Given the description of an element on the screen output the (x, y) to click on. 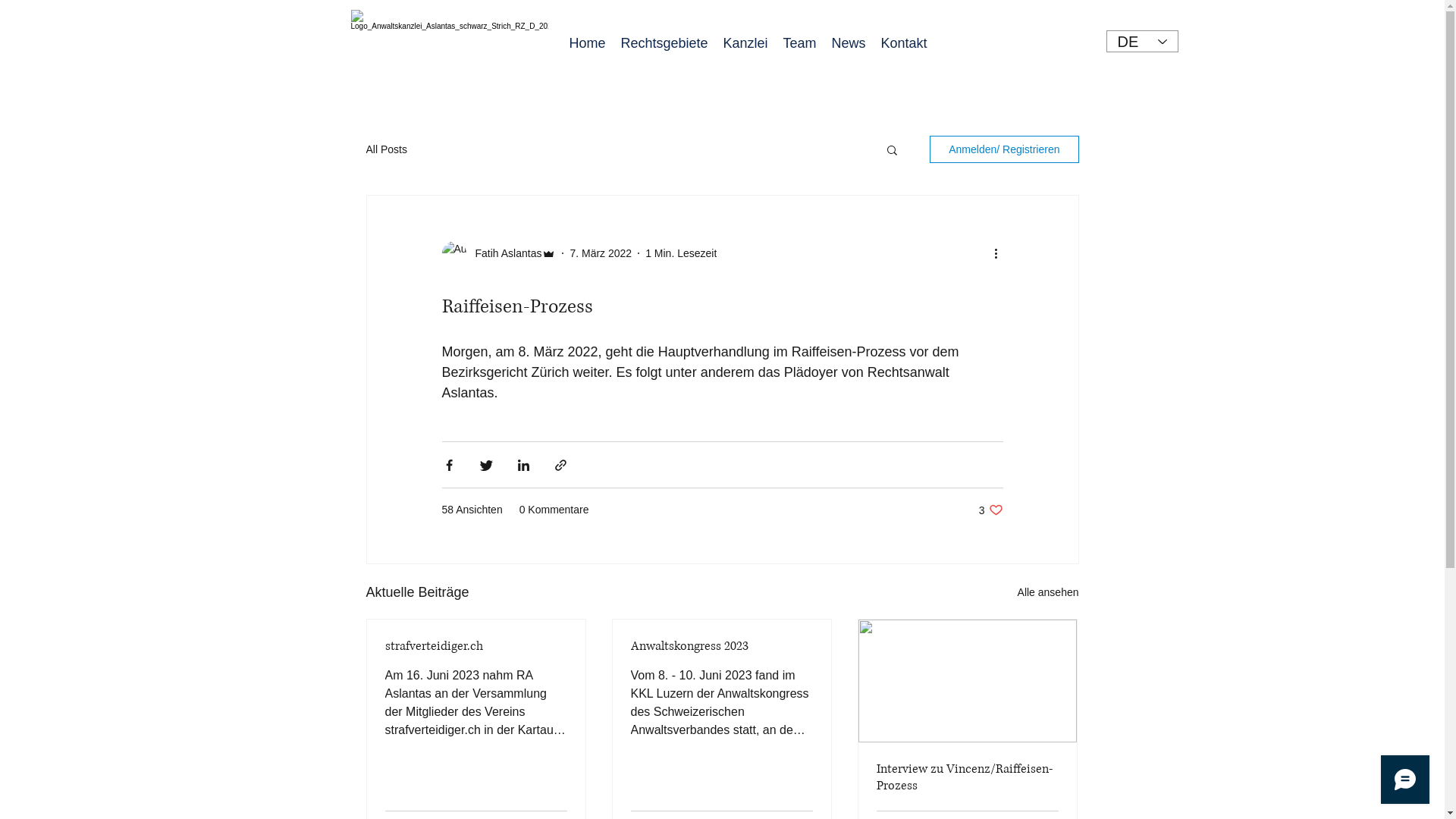
Interview zu Vincenz/Raiffeisen-Prozess Element type: text (967, 776)
Kanzlei Element type: text (745, 43)
Kontakt Element type: text (904, 43)
Alle ansehen Element type: text (1048, 592)
Team Element type: text (799, 43)
News Element type: text (847, 43)
All Posts Element type: text (385, 149)
Home Element type: text (586, 43)
Anwaltskongress 2023 Element type: text (721, 645)
Anmelden/ Registrieren Element type: text (1003, 149)
strafverteidiger.ch Element type: text (476, 645)
